Given the description of an element on the screen output the (x, y) to click on. 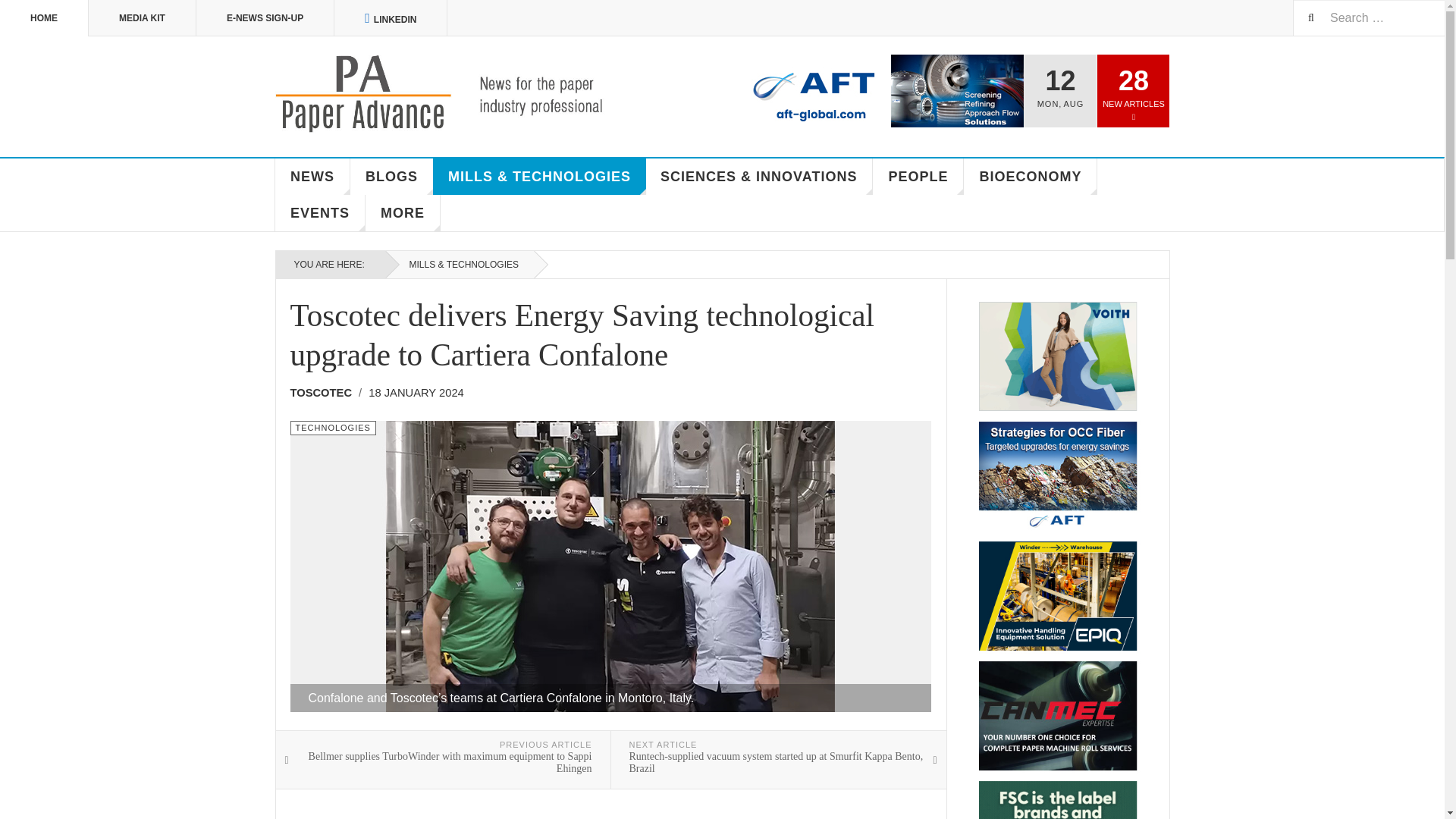
NEWS (312, 176)
Paper Advance (461, 93)
LINKEDIN (390, 18)
E-NEWS SIGN-UP (265, 18)
HOME (44, 18)
MEDIA KIT (142, 18)
